Given the description of an element on the screen output the (x, y) to click on. 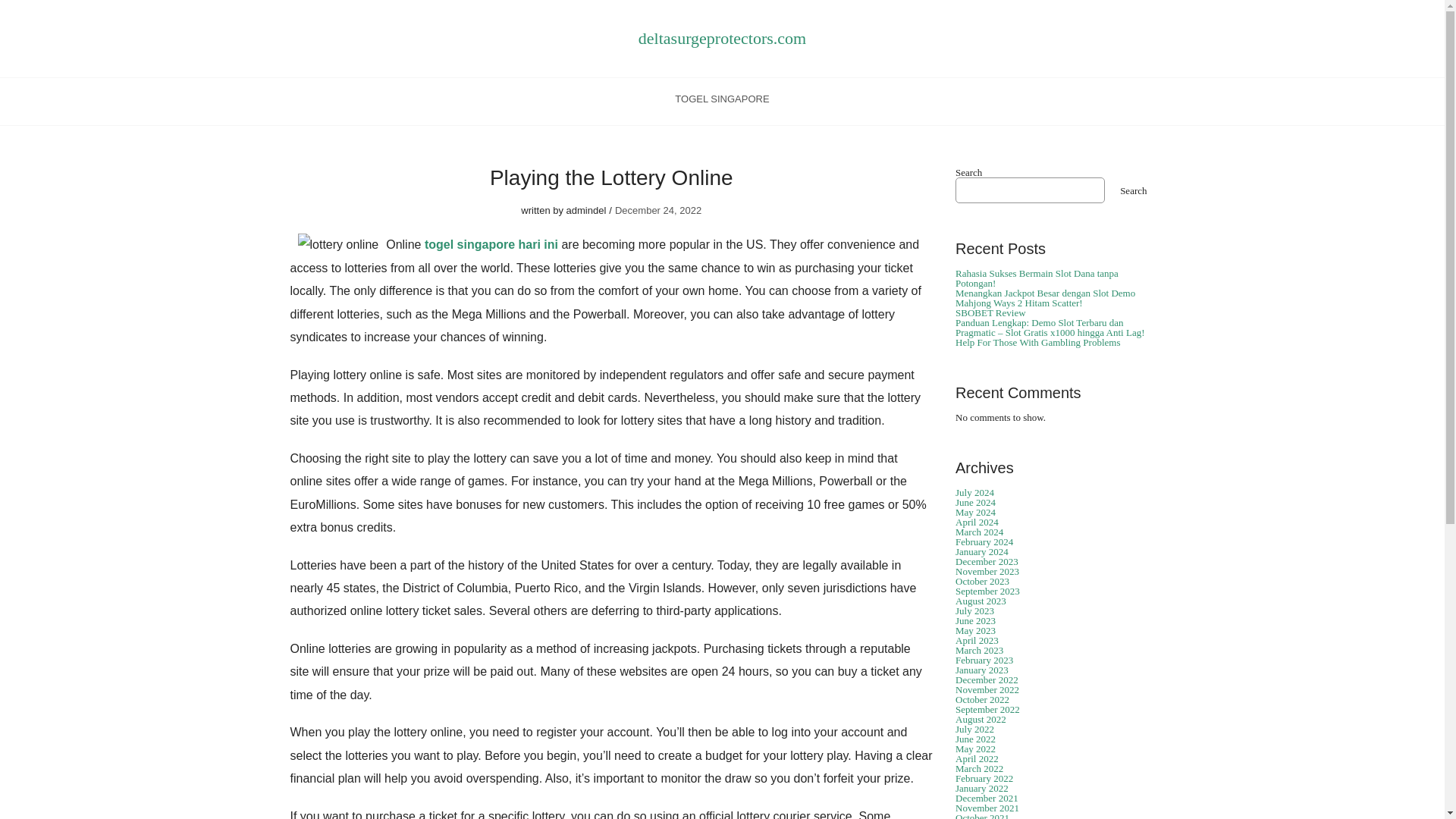
March 2023 (979, 650)
togel singapore hari ini (491, 244)
June 2024 (975, 501)
TOGEL SINGAPORE (721, 101)
October 2023 (982, 581)
July 2023 (974, 610)
September 2022 (987, 708)
Playing the Lottery Online (611, 177)
December 2023 (986, 561)
December 24, 2022 (657, 210)
November 2022 (987, 689)
deltasurgeprotectors.com (722, 38)
February 2024 (984, 541)
February 2023 (984, 659)
